Given the description of an element on the screen output the (x, y) to click on. 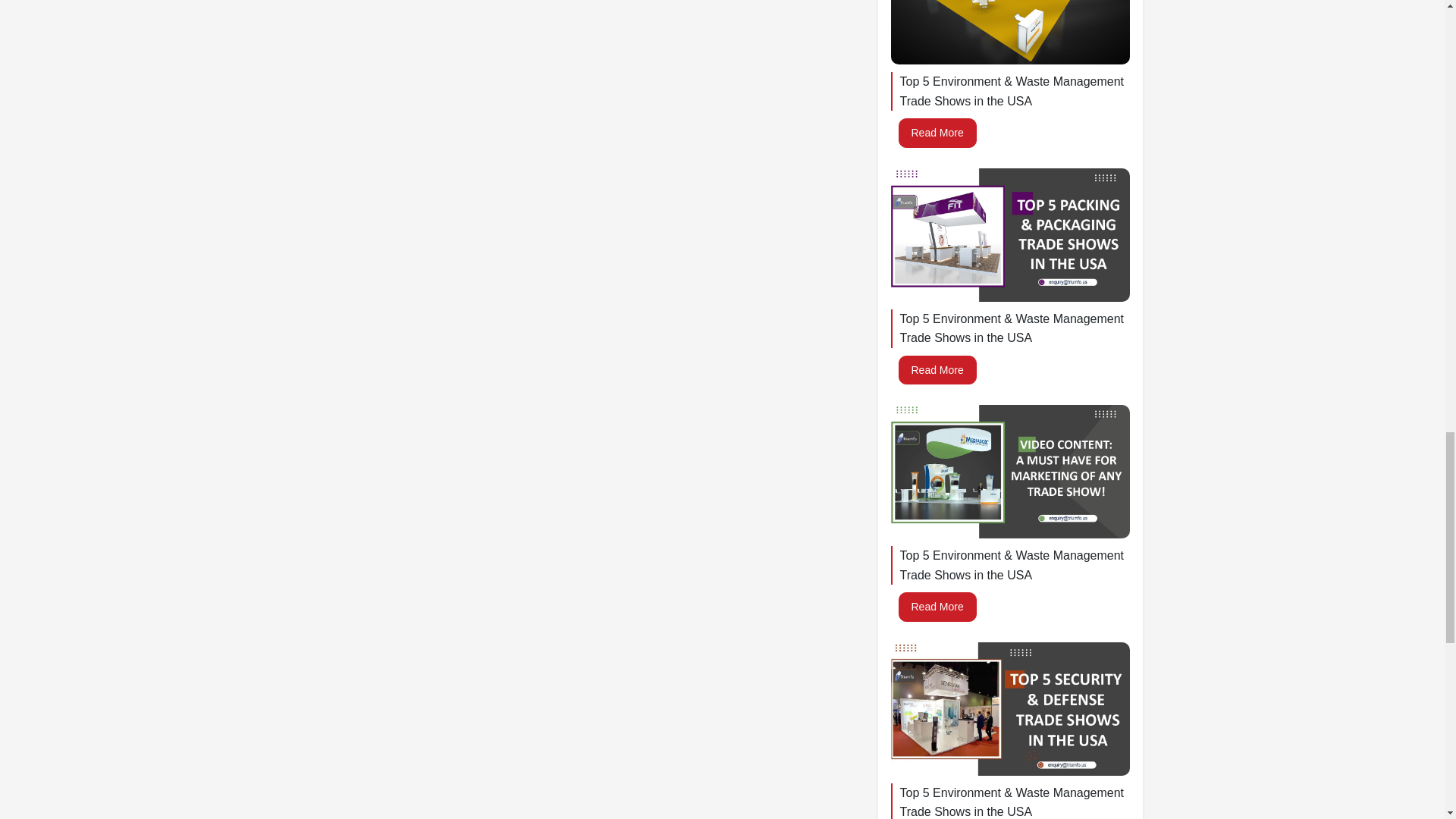
Read More (936, 606)
Read More (936, 369)
Read More (936, 132)
